Given the description of an element on the screen output the (x, y) to click on. 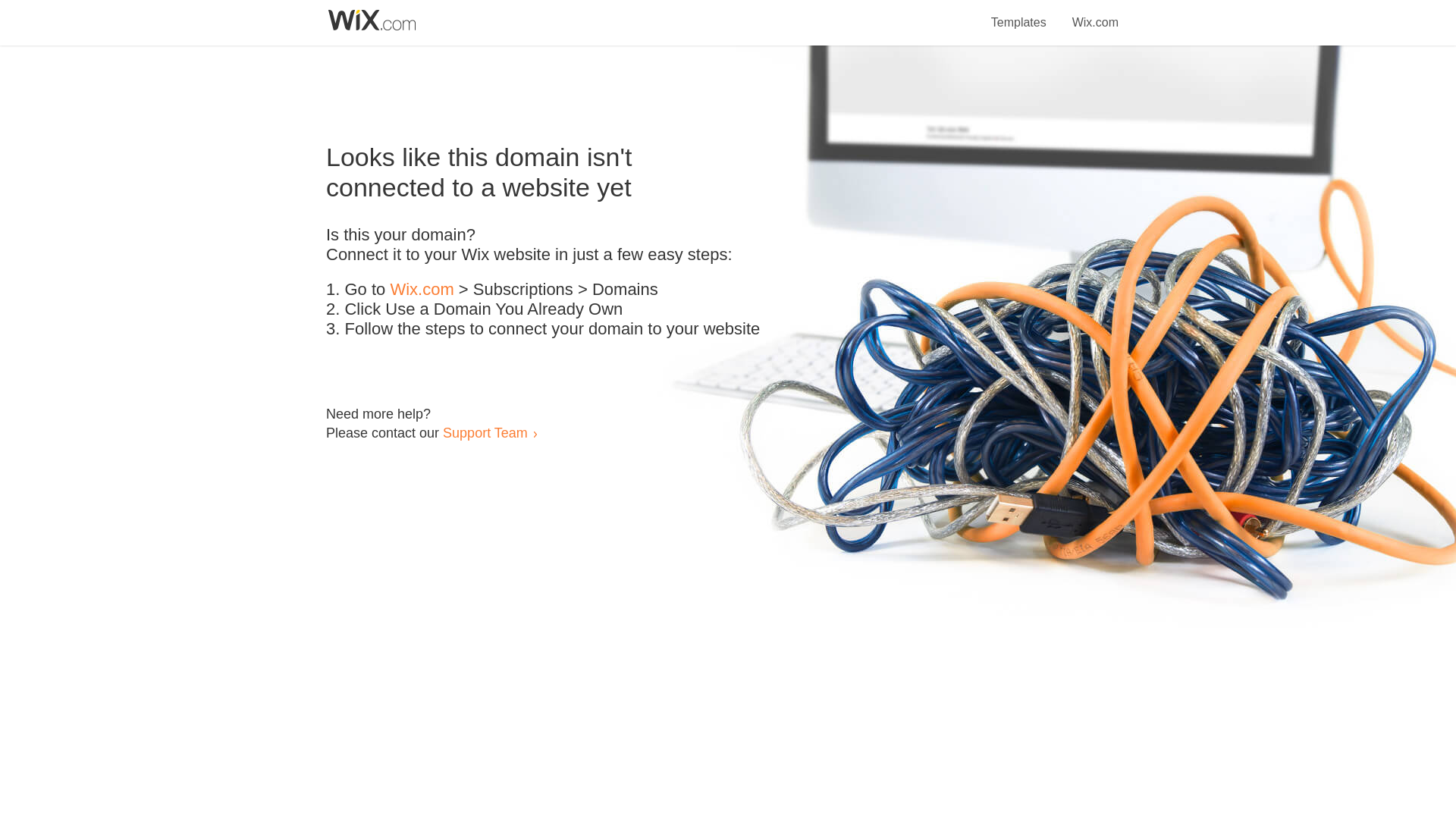
Support Team (484, 432)
Wix.com (1095, 14)
Wix.com (421, 289)
Templates (1018, 14)
